Given the description of an element on the screen output the (x, y) to click on. 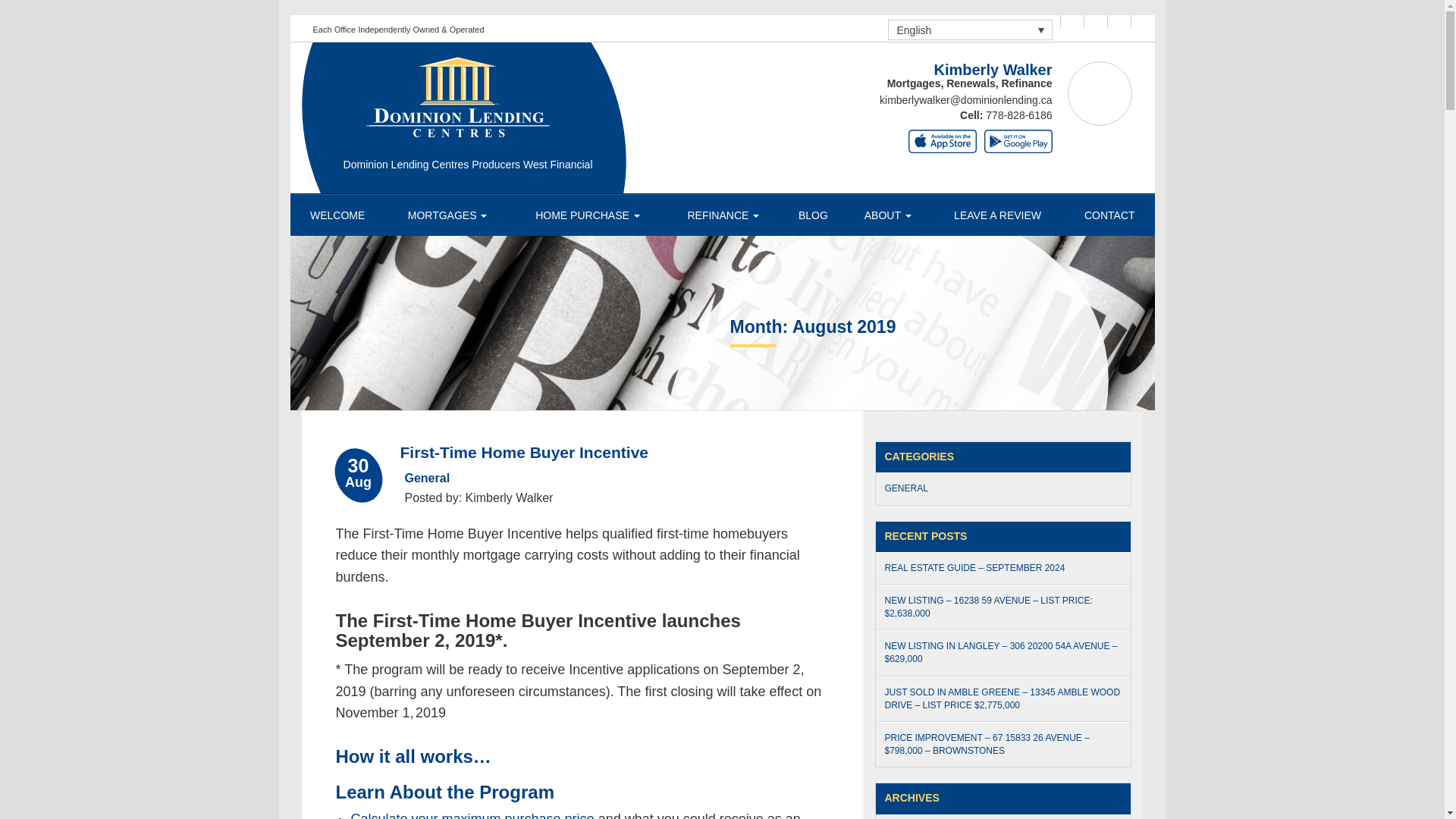
MORTGAGES (448, 214)
778-828-6186 (1018, 114)
BLOG (812, 214)
English (970, 29)
WELCOME (336, 214)
ABOUT (887, 214)
HOME PURCHASE (587, 214)
REFINANCE (723, 214)
